Given the description of an element on the screen output the (x, y) to click on. 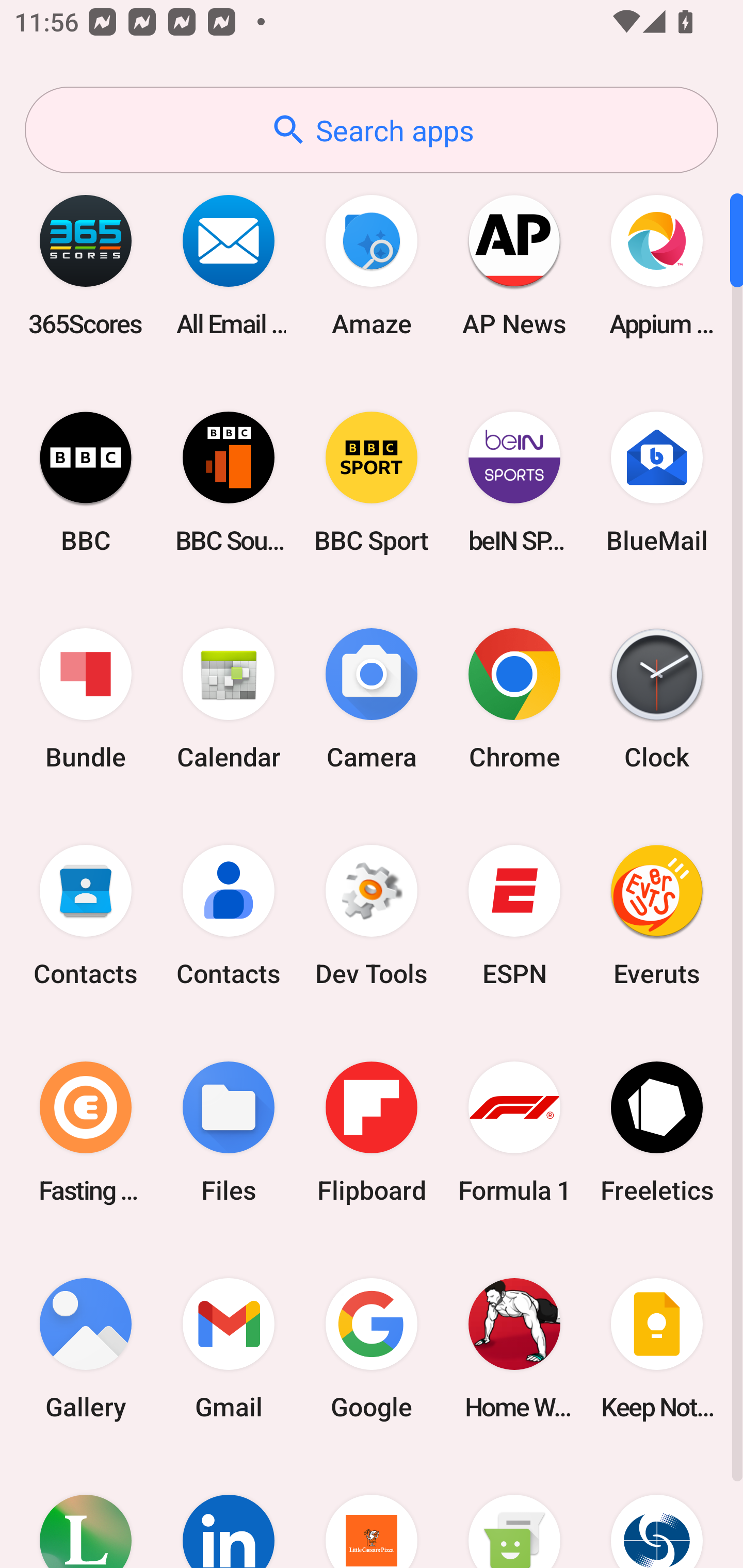
  Search apps (371, 130)
365Scores (85, 264)
All Email Connect (228, 264)
Amaze (371, 264)
AP News (514, 264)
Appium Settings (656, 264)
BBC (85, 482)
BBC Sounds (228, 482)
BBC Sport (371, 482)
beIN SPORTS (514, 482)
BlueMail (656, 482)
Bundle (85, 699)
Calendar (228, 699)
Camera (371, 699)
Chrome (514, 699)
Clock (656, 699)
Contacts (85, 915)
Contacts (228, 915)
Dev Tools (371, 915)
ESPN (514, 915)
Everuts (656, 915)
Fasting Coach (85, 1131)
Files (228, 1131)
Flipboard (371, 1131)
Formula 1 (514, 1131)
Freeletics (656, 1131)
Gallery (85, 1348)
Gmail (228, 1348)
Google (371, 1348)
Home Workout (514, 1348)
Keep Notes (656, 1348)
Lifesum (85, 1512)
LinkedIn (228, 1512)
Little Caesars Pizza (371, 1512)
Messaging (514, 1512)
MyObservatory (656, 1512)
